Given the description of an element on the screen output the (x, y) to click on. 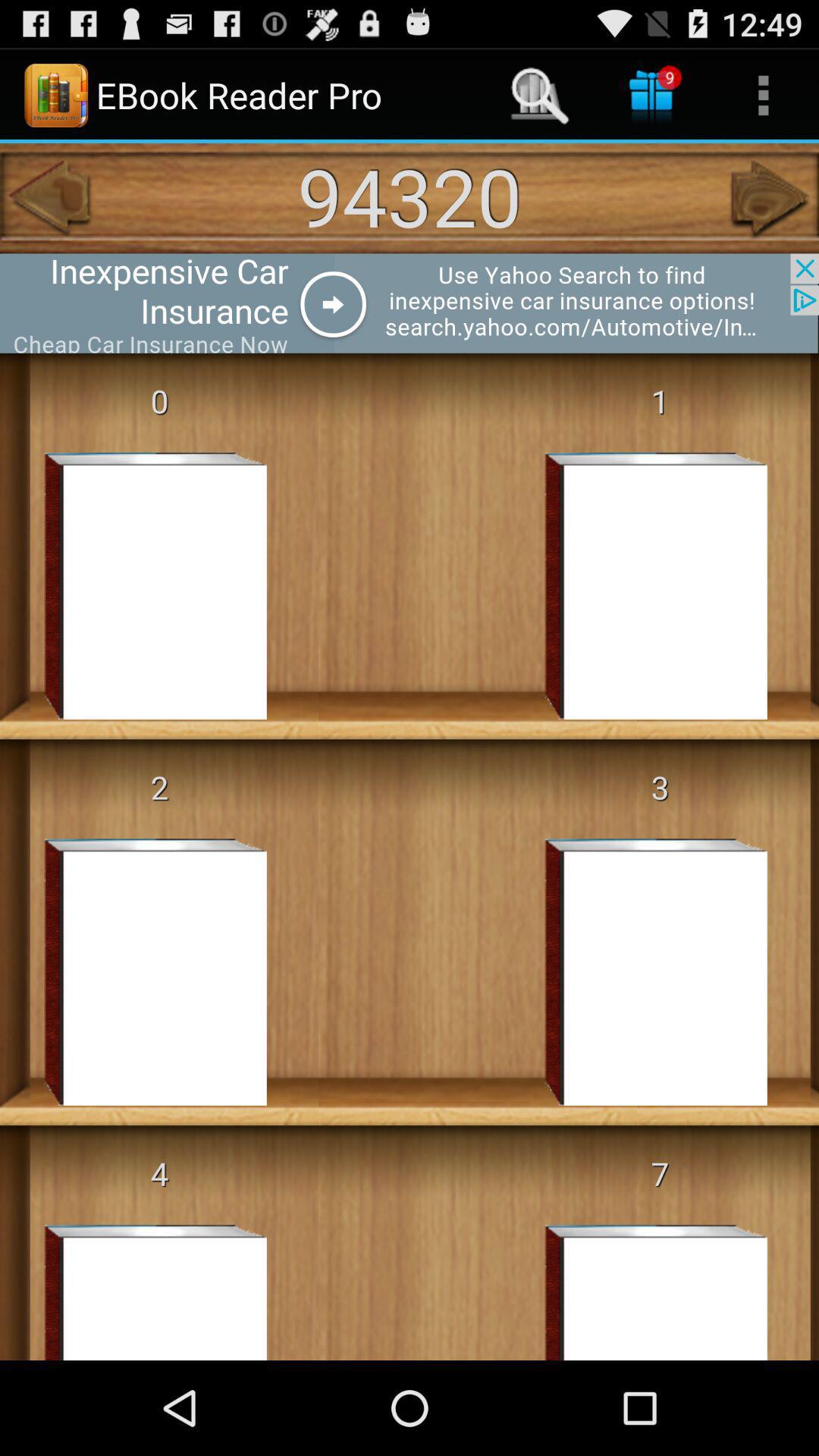
turn on the app to the left of 94320 item (47, 198)
